Given the description of an element on the screen output the (x, y) to click on. 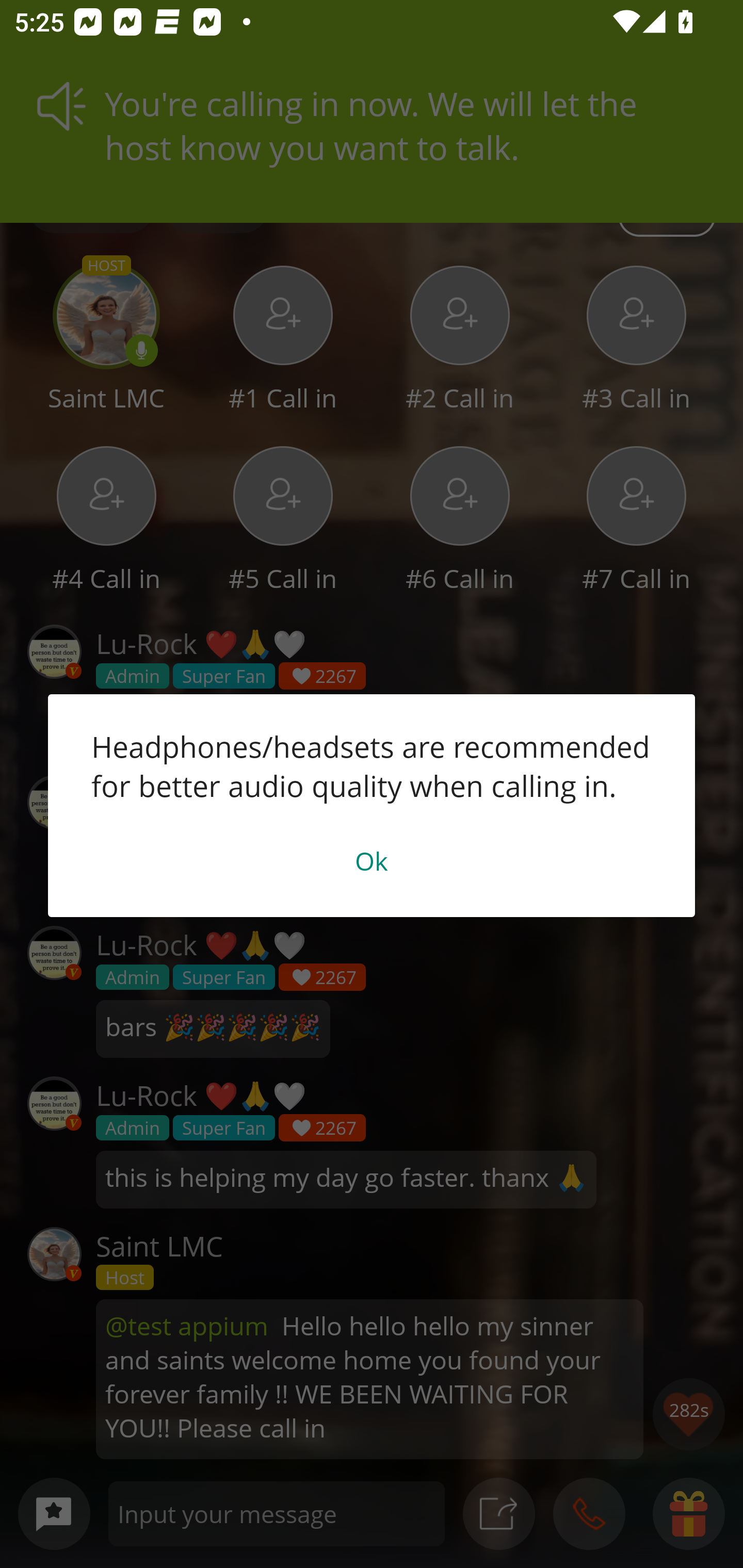
Ok (371, 860)
